Given the description of an element on the screen output the (x, y) to click on. 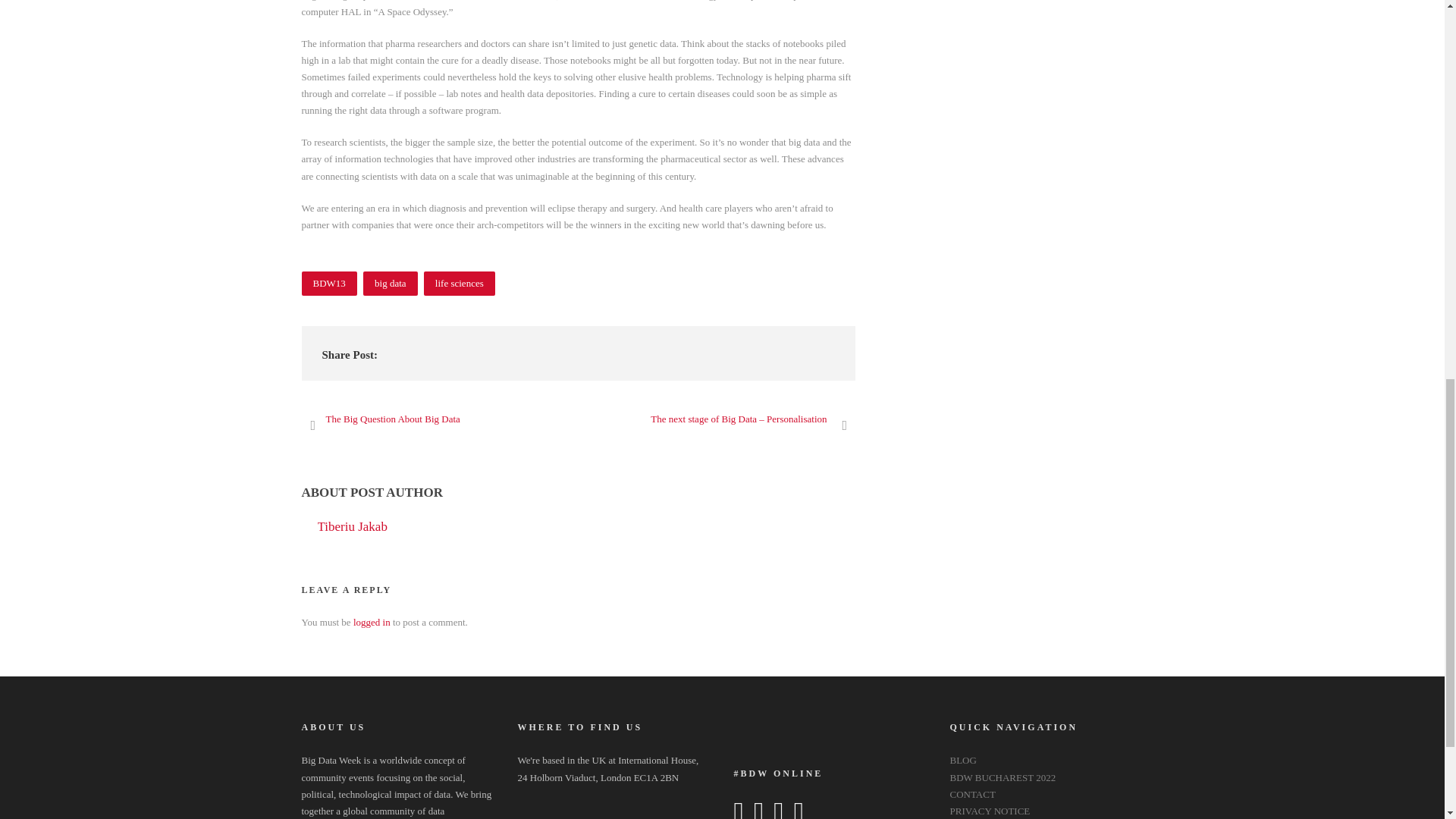
big data (389, 283)
The Big Question About Big Data (380, 419)
life sciences (459, 283)
Posts by Tiberiu Jakab (352, 526)
BDW13 (328, 283)
